Given the description of an element on the screen output the (x, y) to click on. 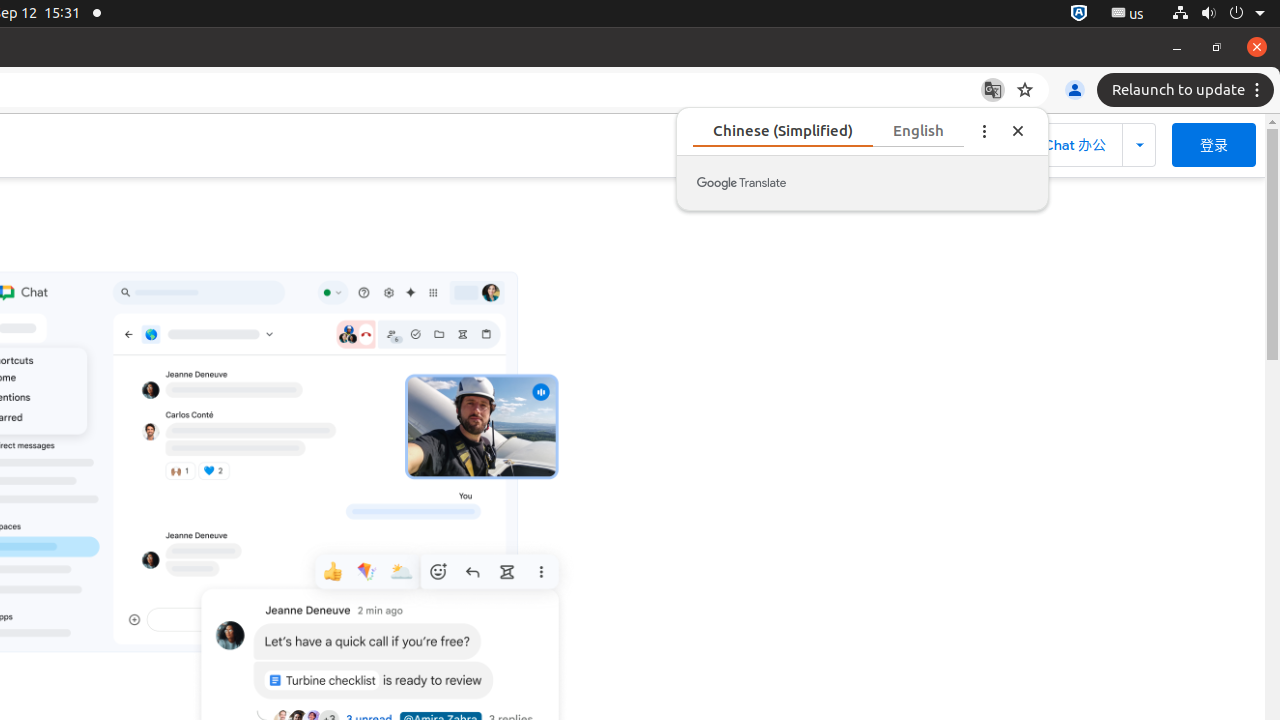
English Element type: page-tab (918, 130)
Bookmark this tab Element type: push-button (1025, 90)
Translate this page Element type: push-button (993, 90)
System Element type: menu (1218, 13)
登录 Google Workspace 以使用 Chat Element type: link (1214, 145)
